Given the description of an element on the screen output the (x, y) to click on. 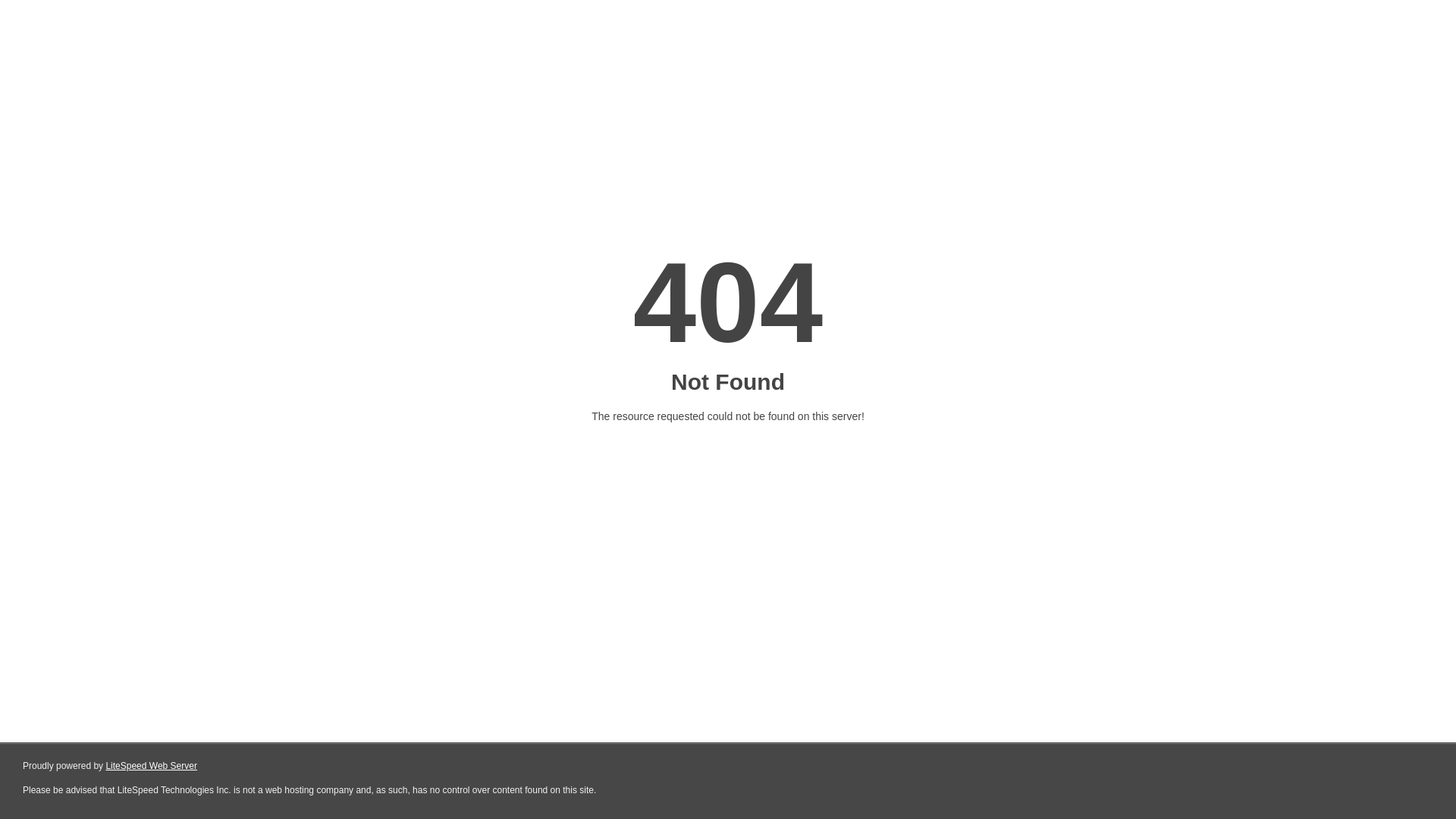
LiteSpeed Web Server Element type: text (151, 765)
